Given the description of an element on the screen output the (x, y) to click on. 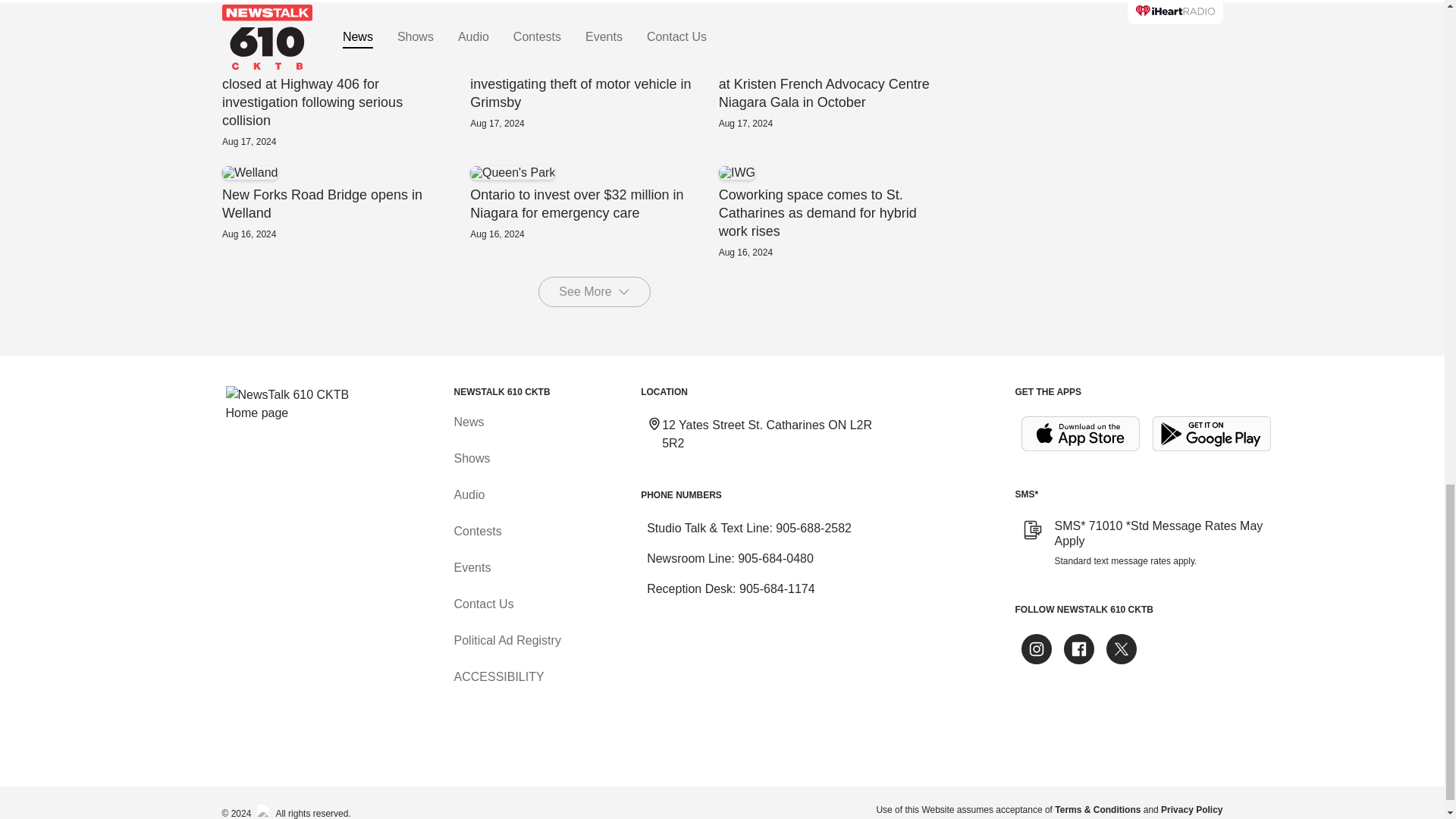
ACCESSIBILITY (497, 676)
Download on the App Store (1080, 434)
Political Ad Registry (506, 640)
Contests (476, 530)
Privacy Policy (1191, 809)
Audio (468, 494)
